Given the description of an element on the screen output the (x, y) to click on. 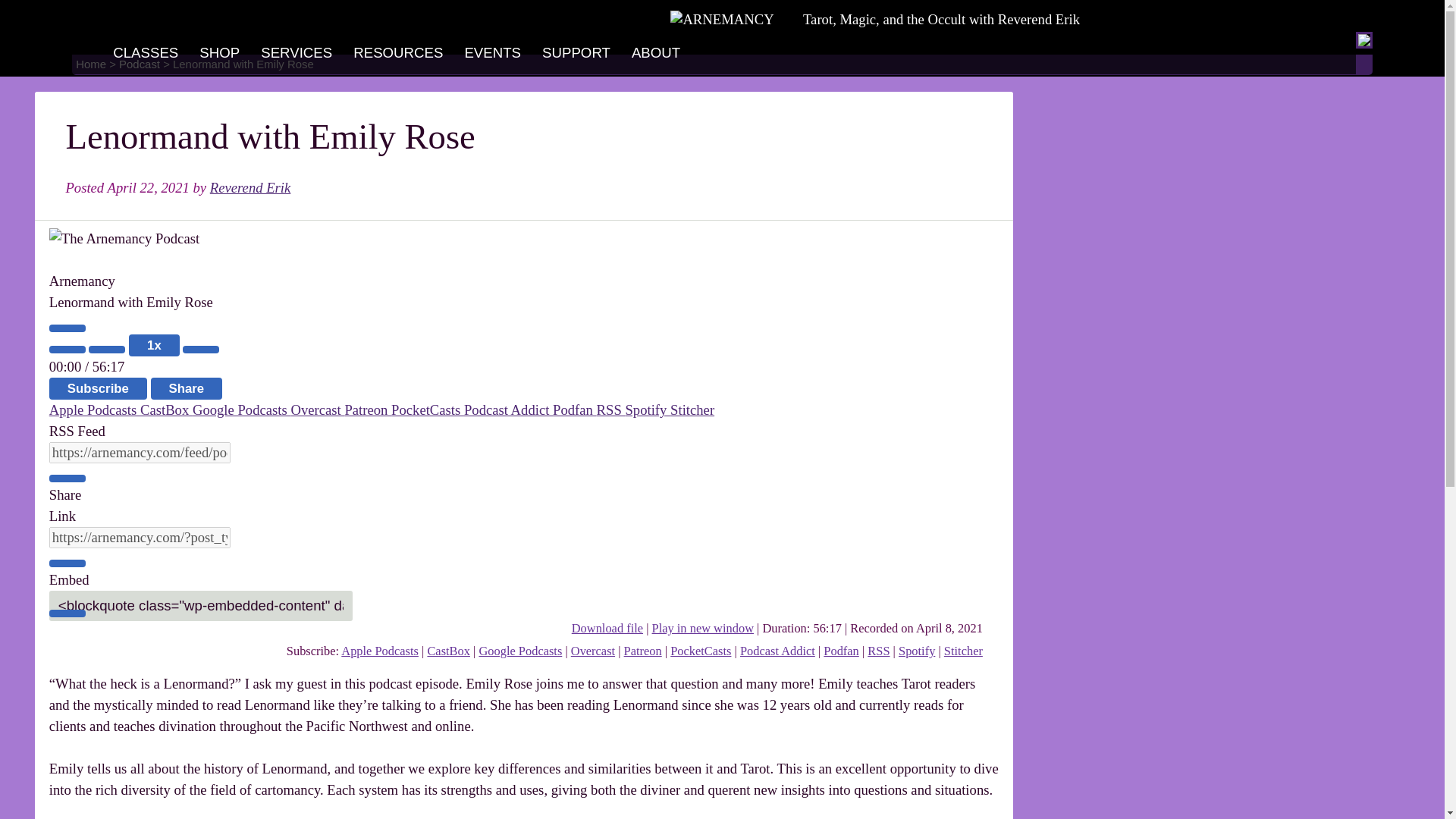
Arnemancy (721, 19)
ABOUT (655, 52)
Rewind 10 seconds (106, 348)
Posts by Reverend Erik (250, 187)
Fast Forward 30 seconds (201, 348)
SERVICES (296, 52)
Podcast (139, 63)
Reverend Erik (250, 187)
Home (90, 63)
EVENTS (491, 52)
